Given the description of an element on the screen output the (x, y) to click on. 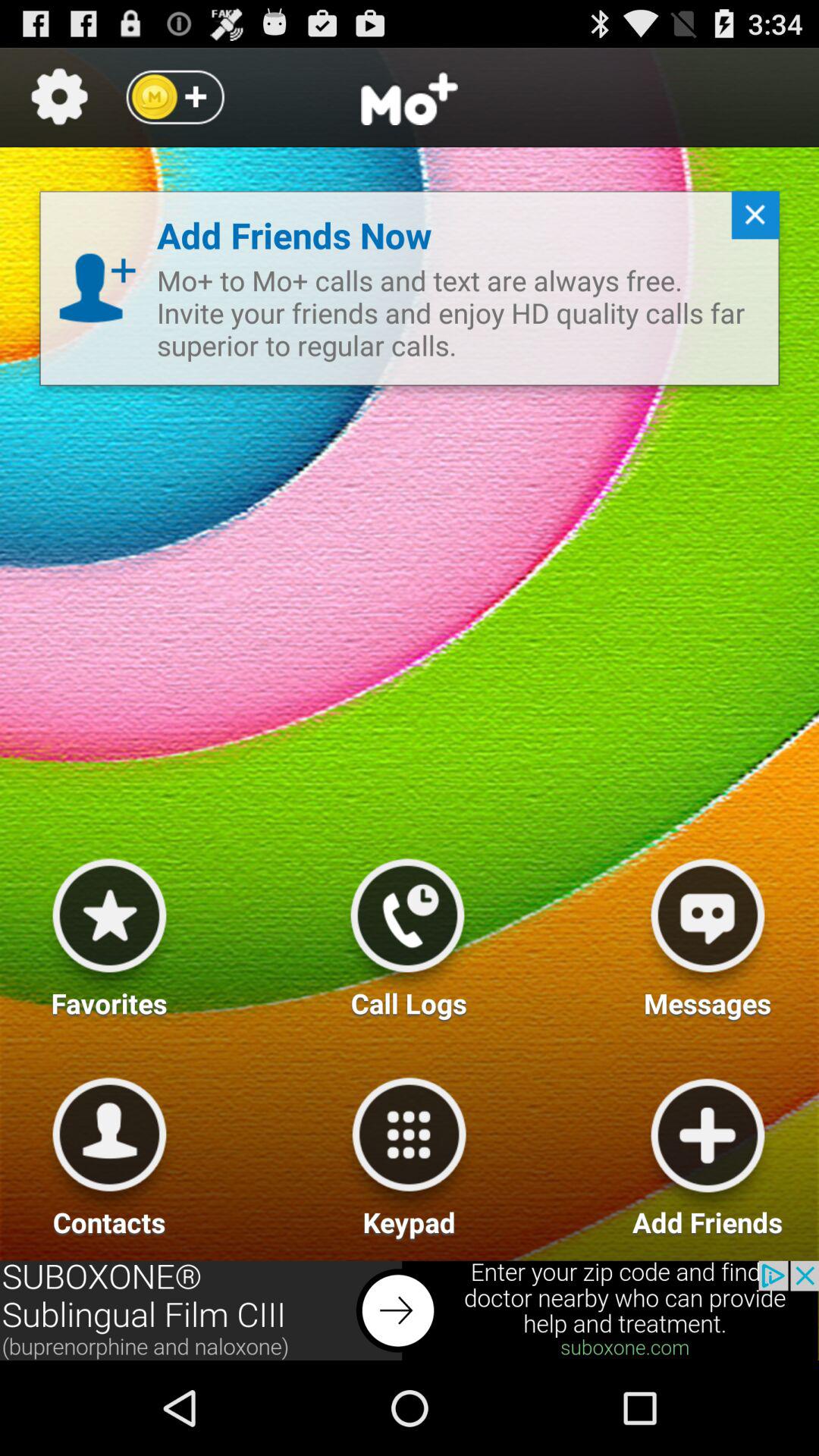
add friends (707, 1151)
